Given the description of an element on the screen output the (x, y) to click on. 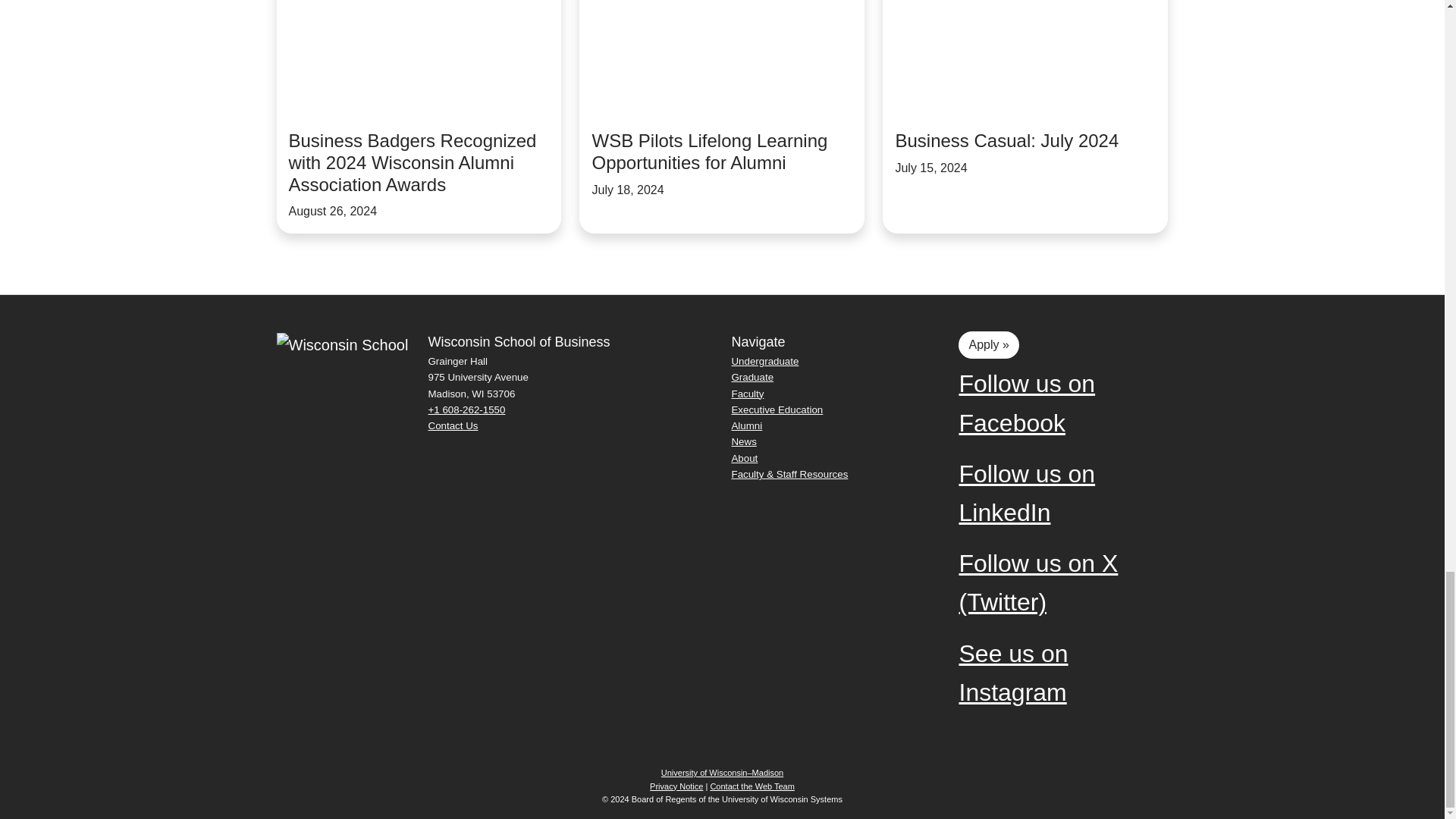
Follow us on Facebook (1054, 402)
Executive Education (825, 409)
Faculty (825, 393)
Graduate (825, 376)
News (825, 441)
Undergraduate (825, 360)
About (825, 458)
Alumni (825, 425)
